Given the description of an element on the screen output the (x, y) to click on. 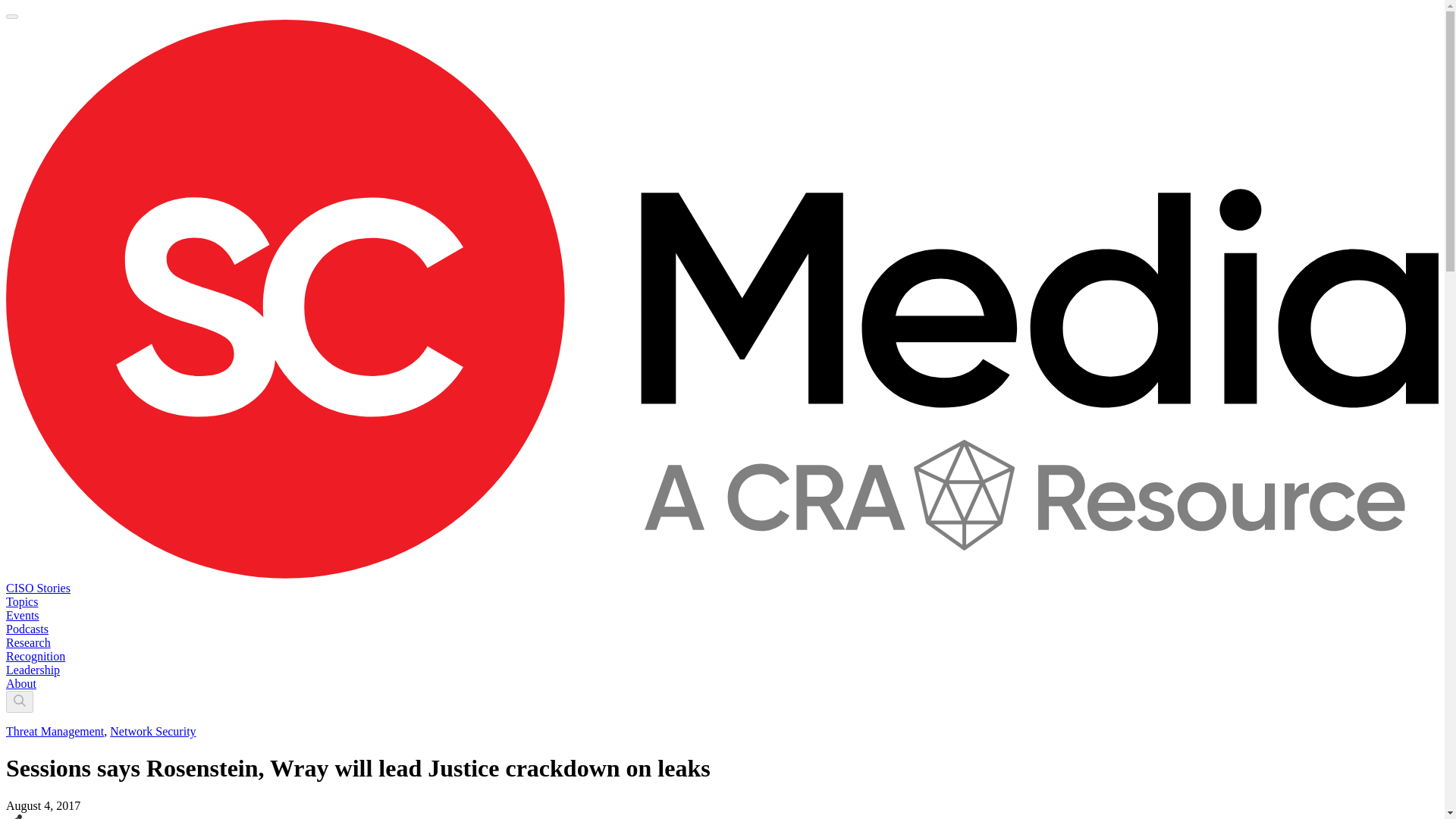
Threat Management (54, 730)
Topics (21, 601)
CISO Stories (37, 587)
Recognition (35, 656)
Leadership (32, 669)
Network Security (152, 730)
Podcasts (26, 628)
About (20, 683)
Events (22, 615)
Research (27, 642)
